Given the description of an element on the screen output the (x, y) to click on. 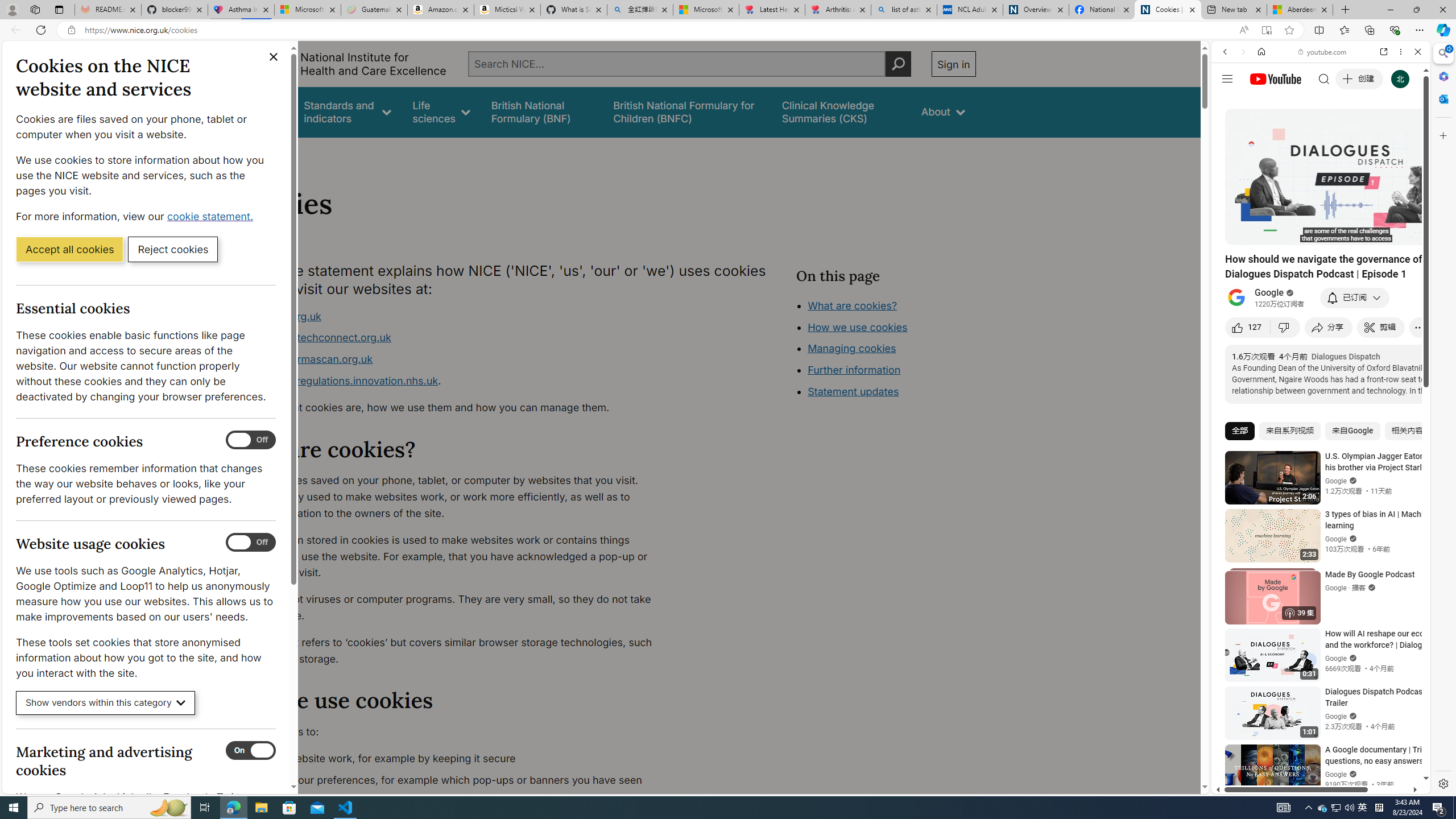
How we use cookies (857, 327)
www.ukpharmascan.org.uk (305, 359)
Preference cookies (250, 439)
Aberdeen, Hong Kong SAR hourly forecast | Microsoft Weather (1300, 9)
false (841, 111)
